Given the description of an element on the screen output the (x, y) to click on. 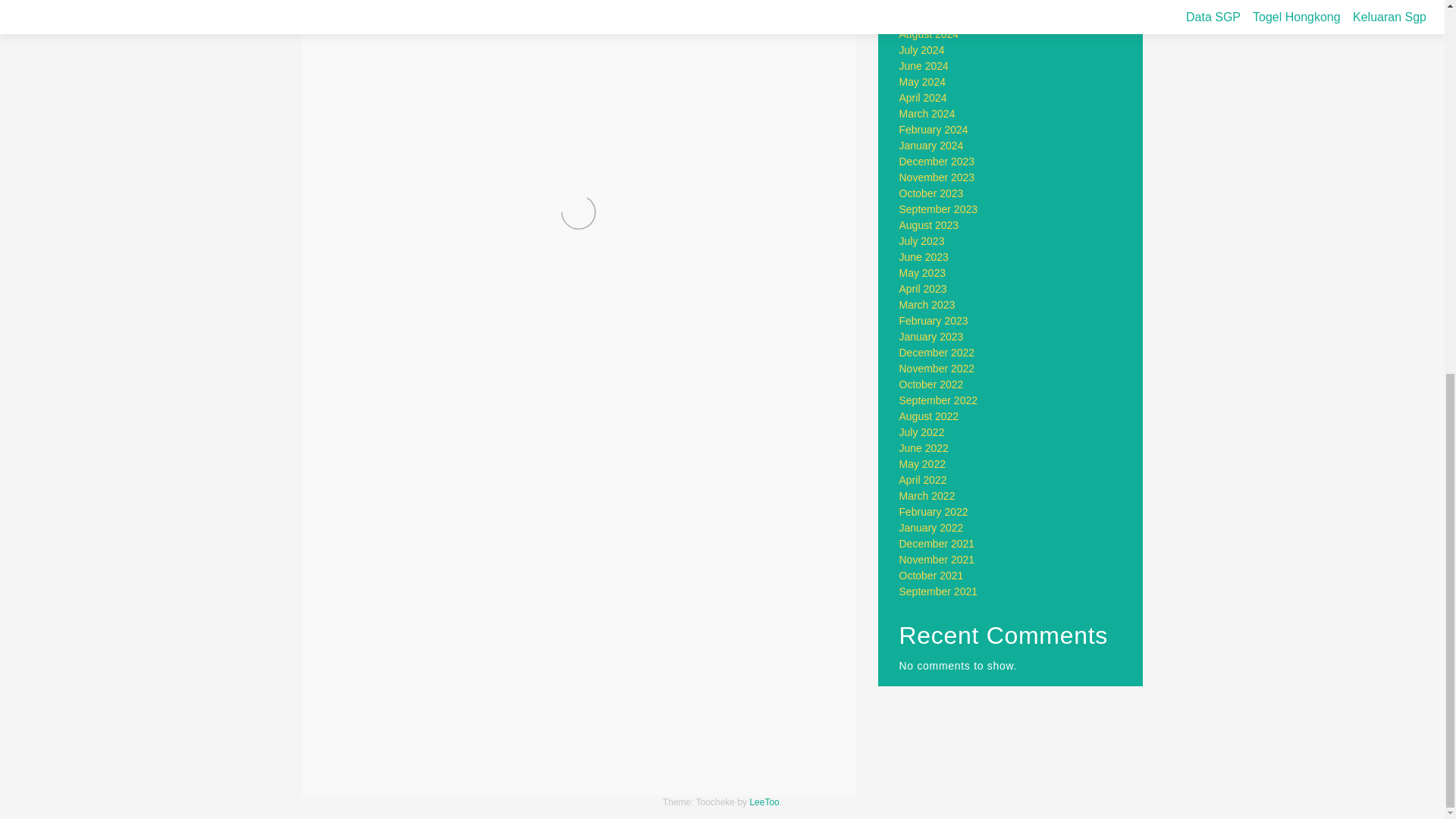
March 2023 (927, 304)
May 2023 (921, 272)
October 2023 (931, 193)
May 2024 (921, 81)
December 2023 (937, 161)
 The Benefits of Playing at a Live Casino (445, 762)
April 2024 (923, 97)
March 2024 (927, 113)
August 2024 (929, 33)
info (387, 722)
